Given the description of an element on the screen output the (x, y) to click on. 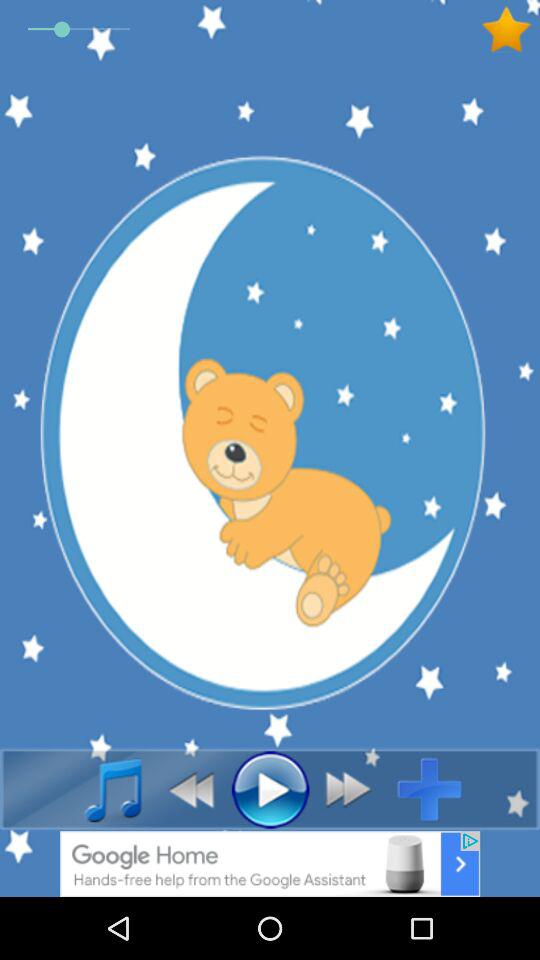
go to song (102, 789)
